Given the description of an element on the screen output the (x, y) to click on. 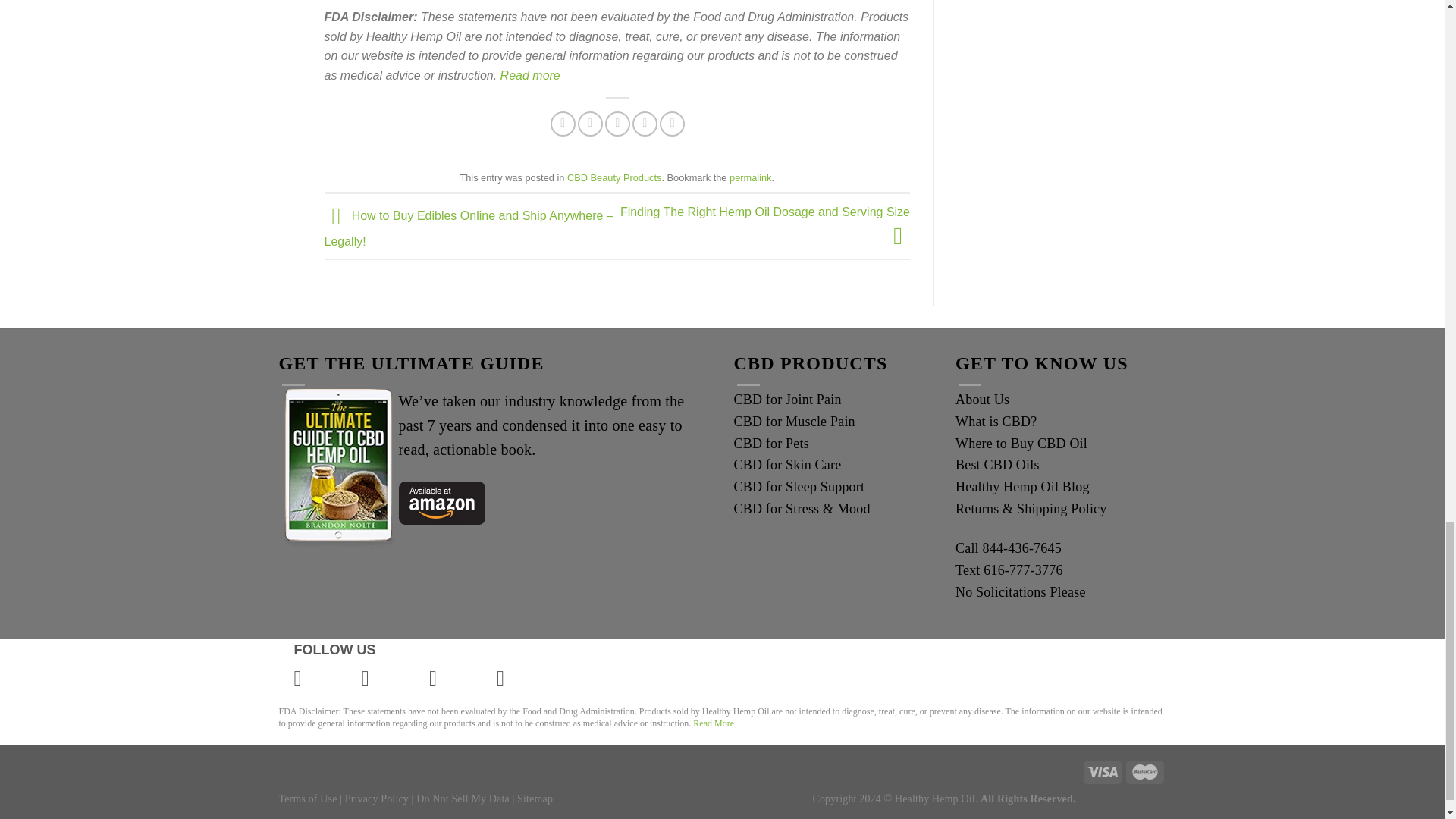
Email to a Friend (617, 123)
Permalink to Hair Care with Hemp Hair Products (750, 177)
Share on Tumblr (671, 123)
Pin on Pinterest (644, 123)
Share on Twitter (590, 123)
Share on Facebook (562, 123)
